Given the description of an element on the screen output the (x, y) to click on. 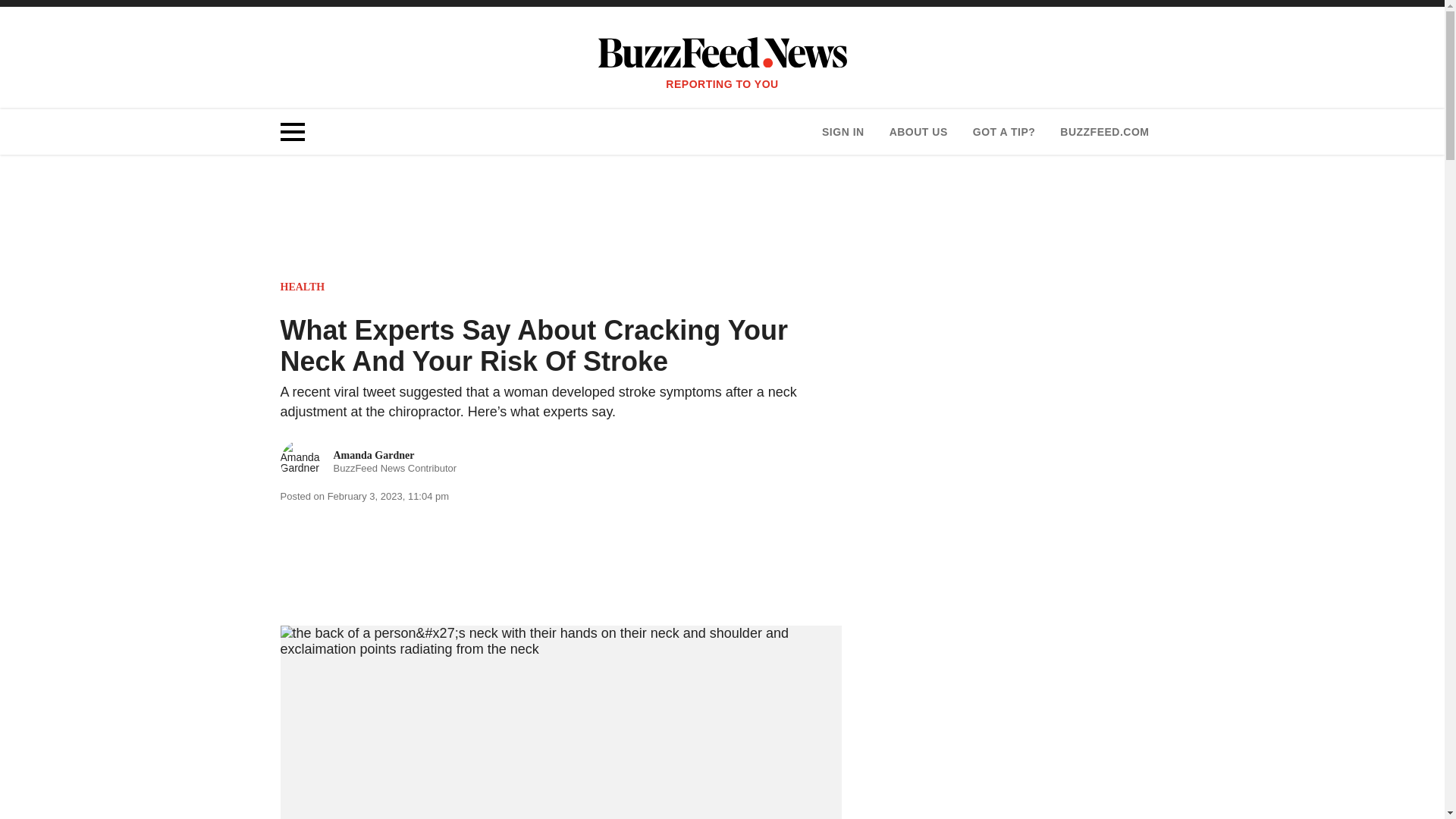
BUZZFEED.COM (1103, 131)
ABOUT US (917, 131)
HEALTH (302, 286)
SIGN IN (842, 131)
GOT A TIP? (1003, 131)
